Given the description of an element on the screen output the (x, y) to click on. 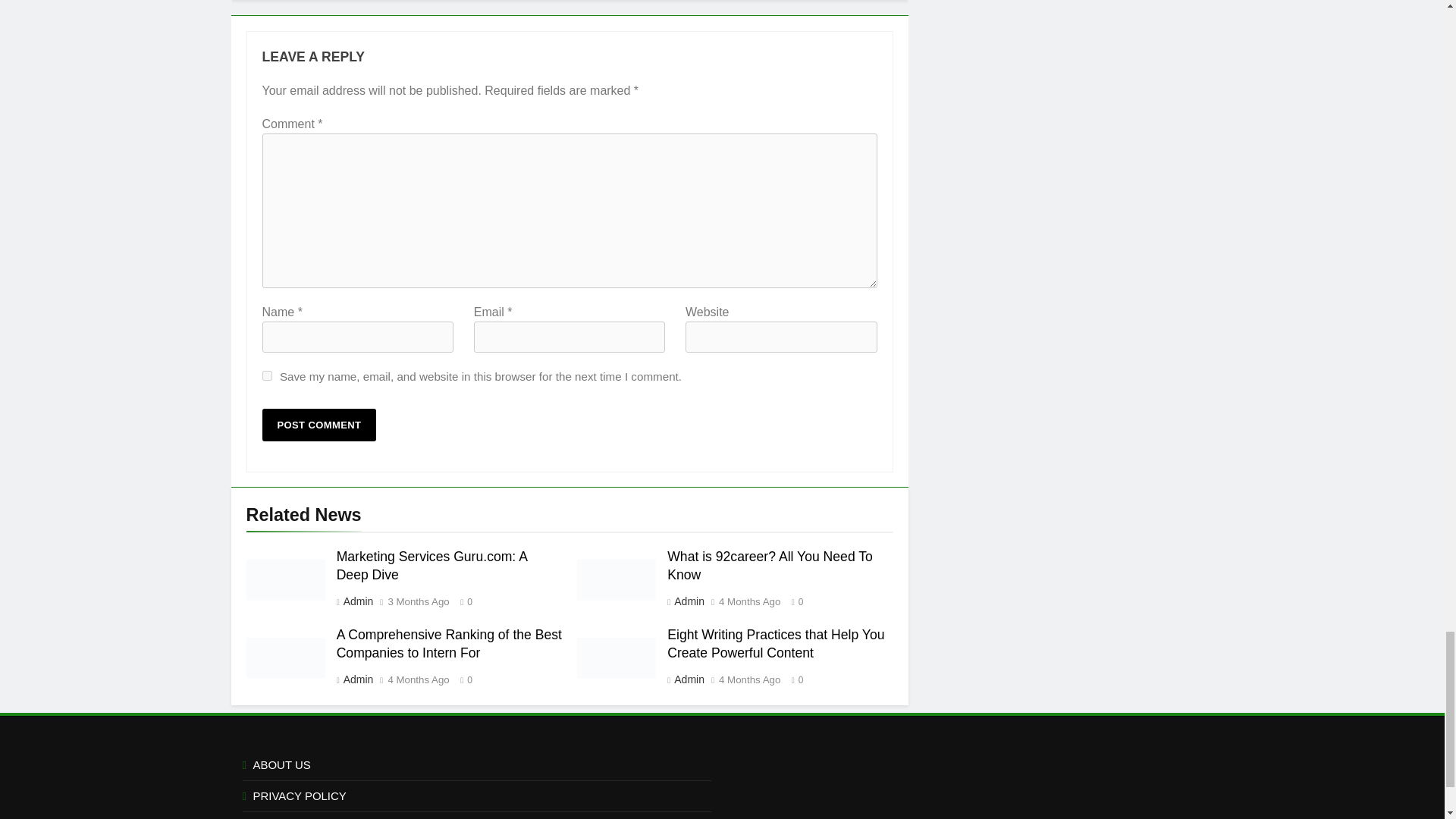
Post Comment (319, 424)
yes (267, 375)
